Given the description of an element on the screen output the (x, y) to click on. 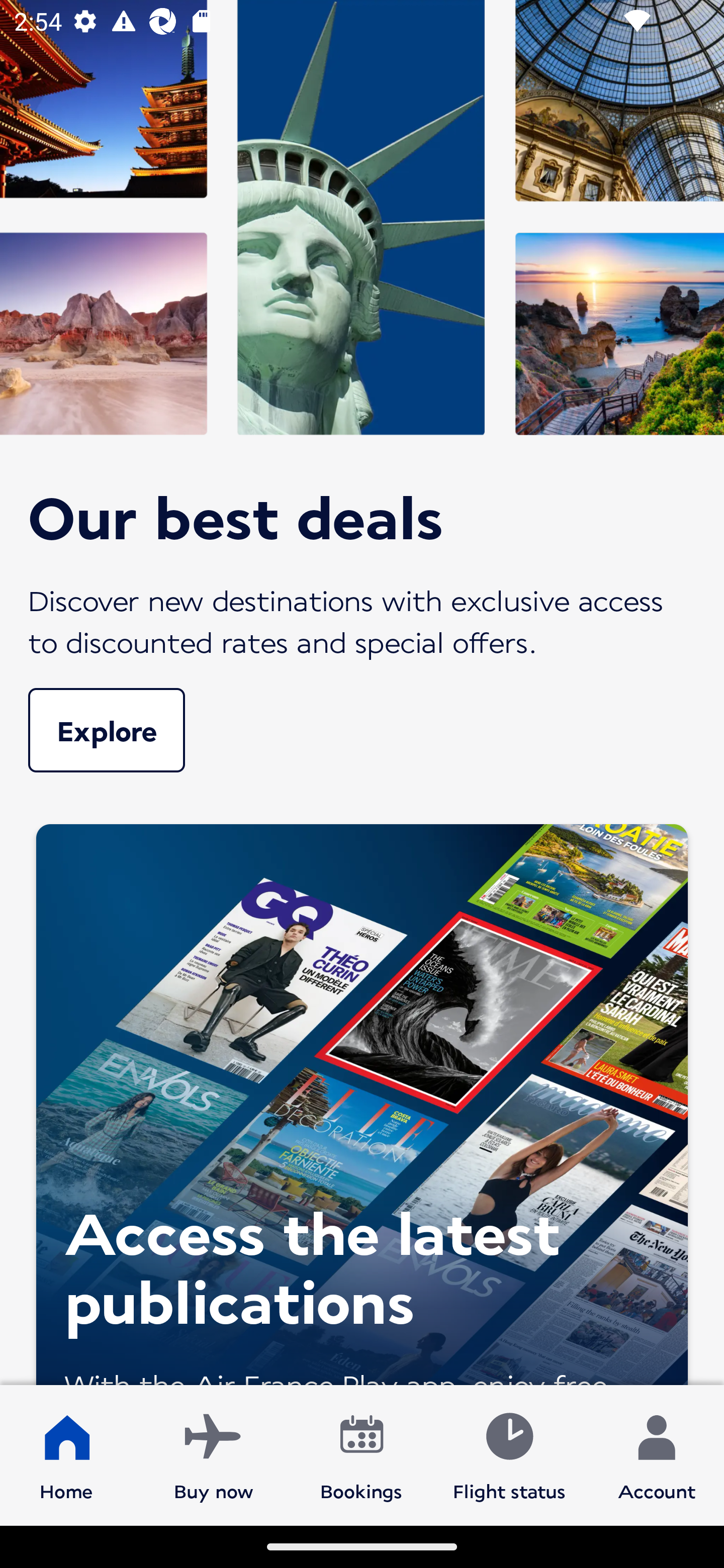
Buy now (213, 1454)
Bookings (361, 1454)
Flight status (509, 1454)
Account (657, 1454)
